Given the description of an element on the screen output the (x, y) to click on. 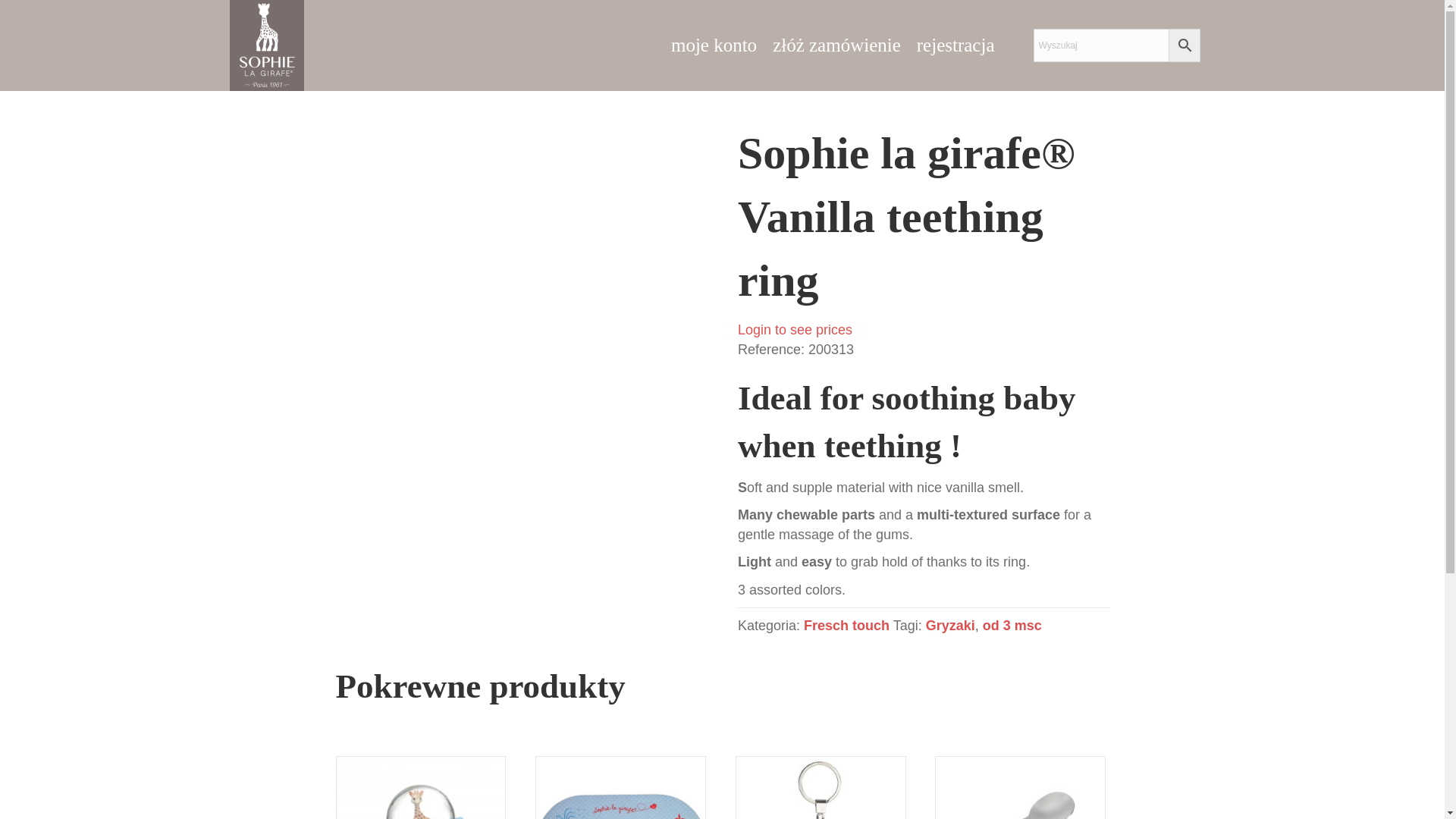
od 3 msc (1012, 625)
Login to see prices (794, 329)
Gryzaki (950, 625)
moje konto (713, 45)
Fresch touch (846, 625)
rejestracja (955, 45)
